Given the description of an element on the screen output the (x, y) to click on. 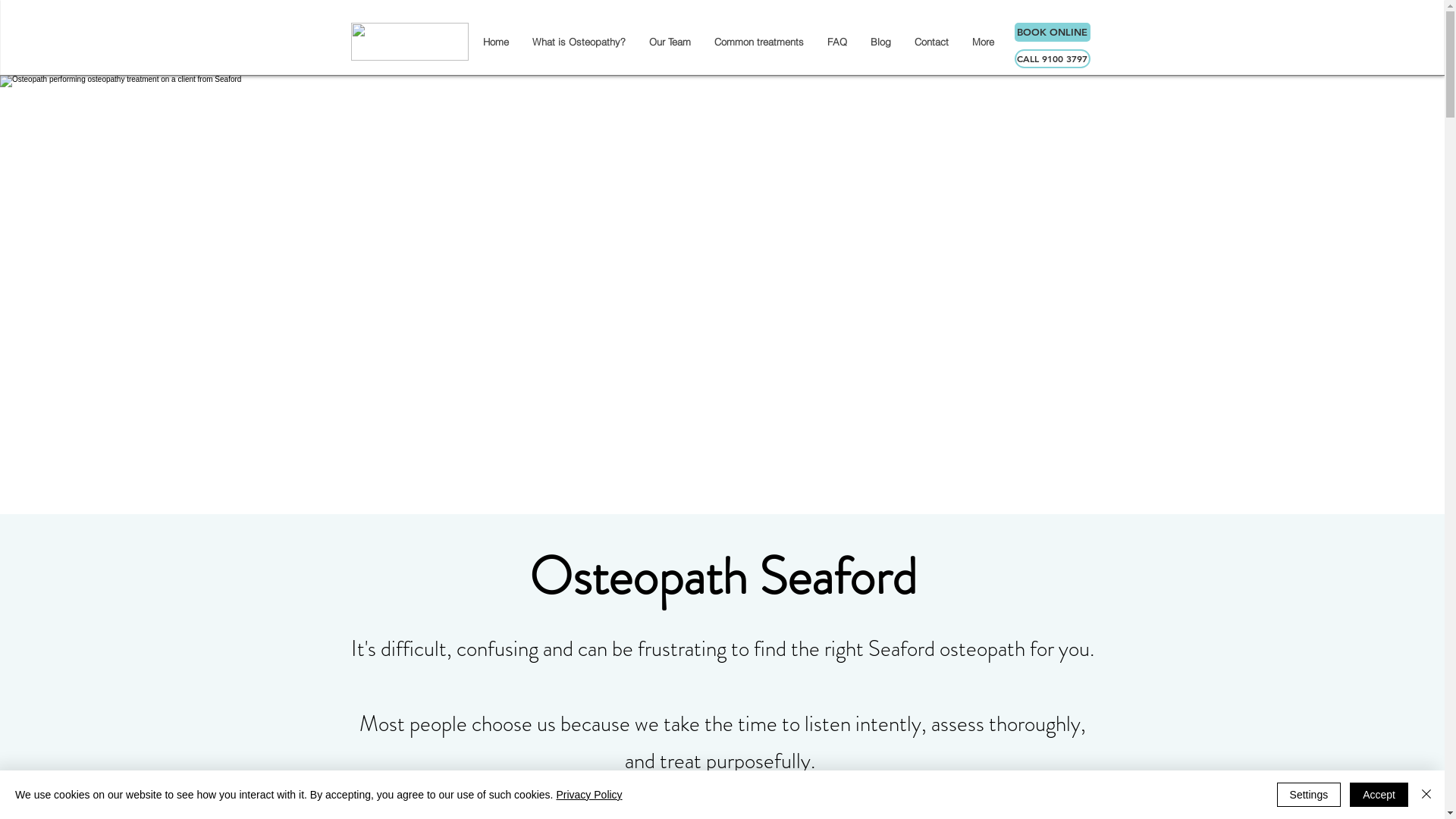
Home Element type: text (494, 41)
FAQ Element type: text (835, 41)
Contact Element type: text (931, 41)
Settings Element type: text (1309, 794)
BOOK ONLINE Element type: text (1052, 31)
Accept Element type: text (1378, 794)
What is Osteopathy? Element type: text (578, 41)
Blog Element type: text (880, 41)
Our Team Element type: text (669, 41)
Common treatments Element type: text (758, 41)
CALL 9100 3797 Element type: text (1052, 58)
Privacy Policy Element type: text (588, 794)
